Given the description of an element on the screen output the (x, y) to click on. 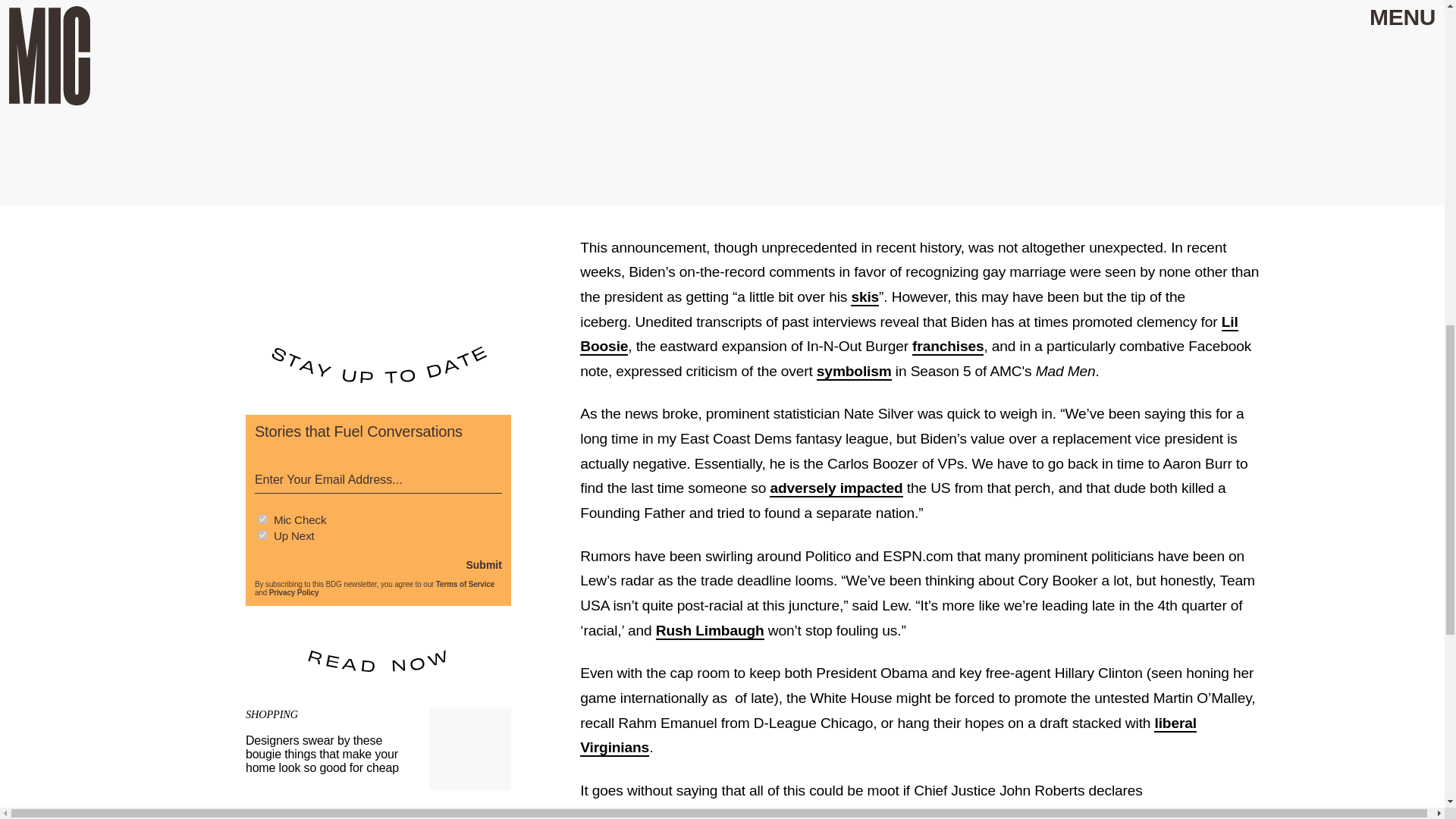
liberal Virginians (887, 735)
adversely impacted (836, 488)
Lil Boosie (908, 334)
Terms of Service (465, 583)
Rush Limbaugh (710, 630)
franchises (948, 346)
Submit (482, 564)
Privacy Policy (293, 592)
skis (864, 297)
